Given the description of an element on the screen output the (x, y) to click on. 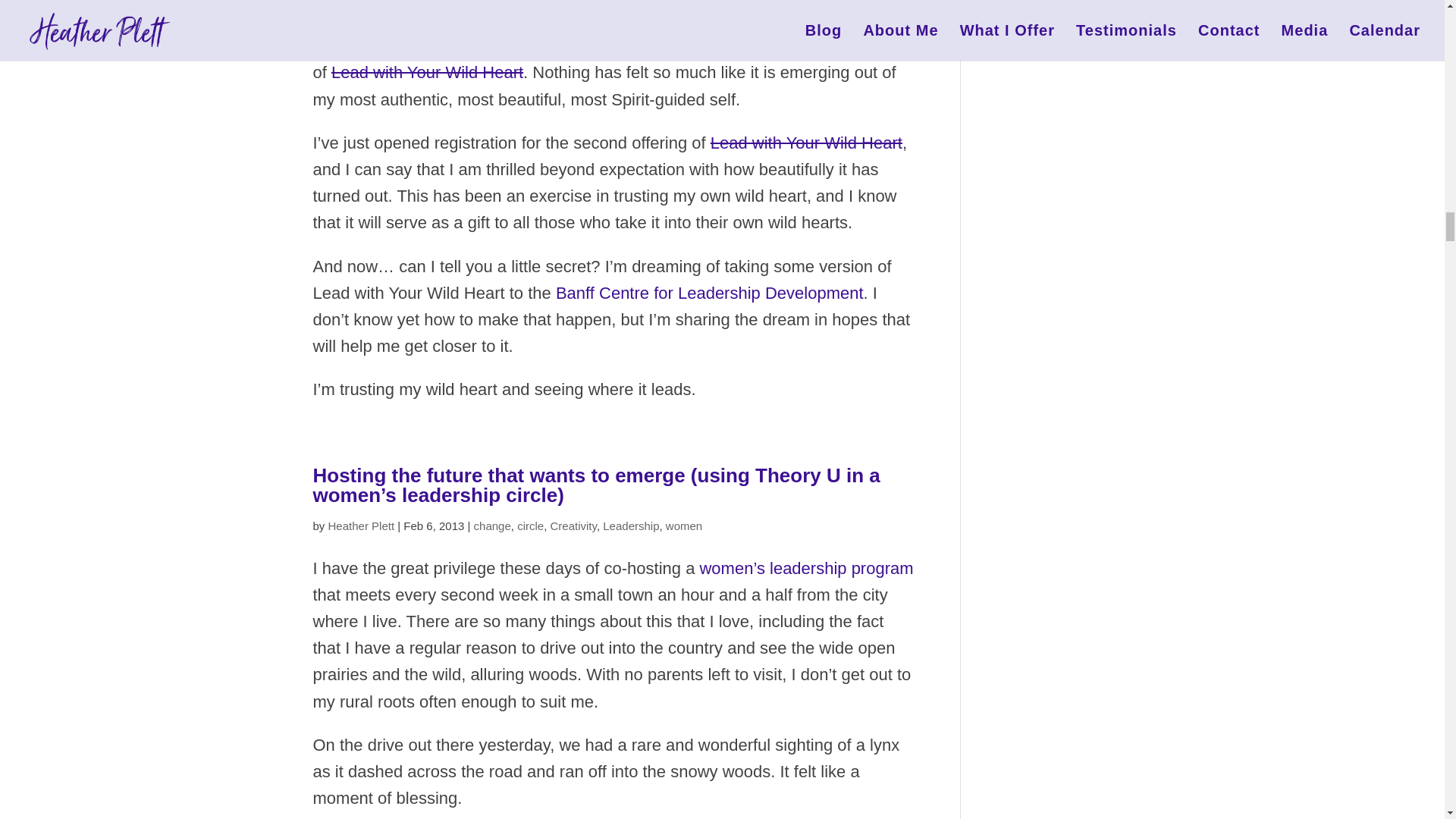
Posts by Heather Plett (361, 524)
Lead with Your Wild Heart (426, 72)
Banff Centre for Leadership Development (709, 292)
Lead with Your Wild Heart (806, 142)
Heather Plett (361, 524)
